Given the description of an element on the screen output the (x, y) to click on. 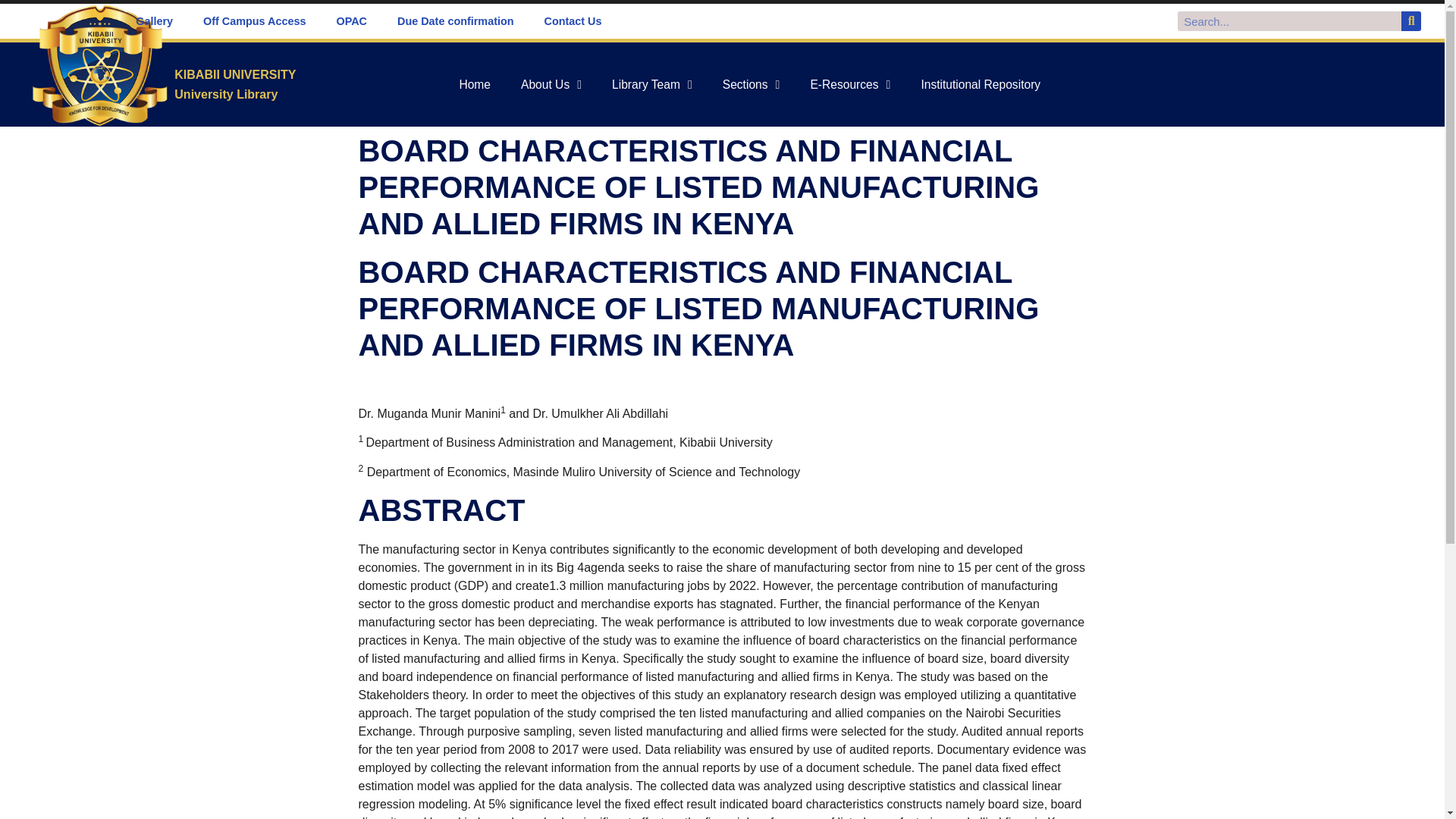
Off Campus Access (253, 21)
Search (1410, 21)
Institutional Repository (980, 84)
About Us (550, 84)
Search (1288, 21)
Due Date confirmation (455, 21)
E-Resources (849, 84)
Home (474, 84)
Library Team (651, 84)
Gallery (153, 21)
Sections (750, 84)
OPAC (351, 21)
Contact Us (573, 21)
